Given the description of an element on the screen output the (x, y) to click on. 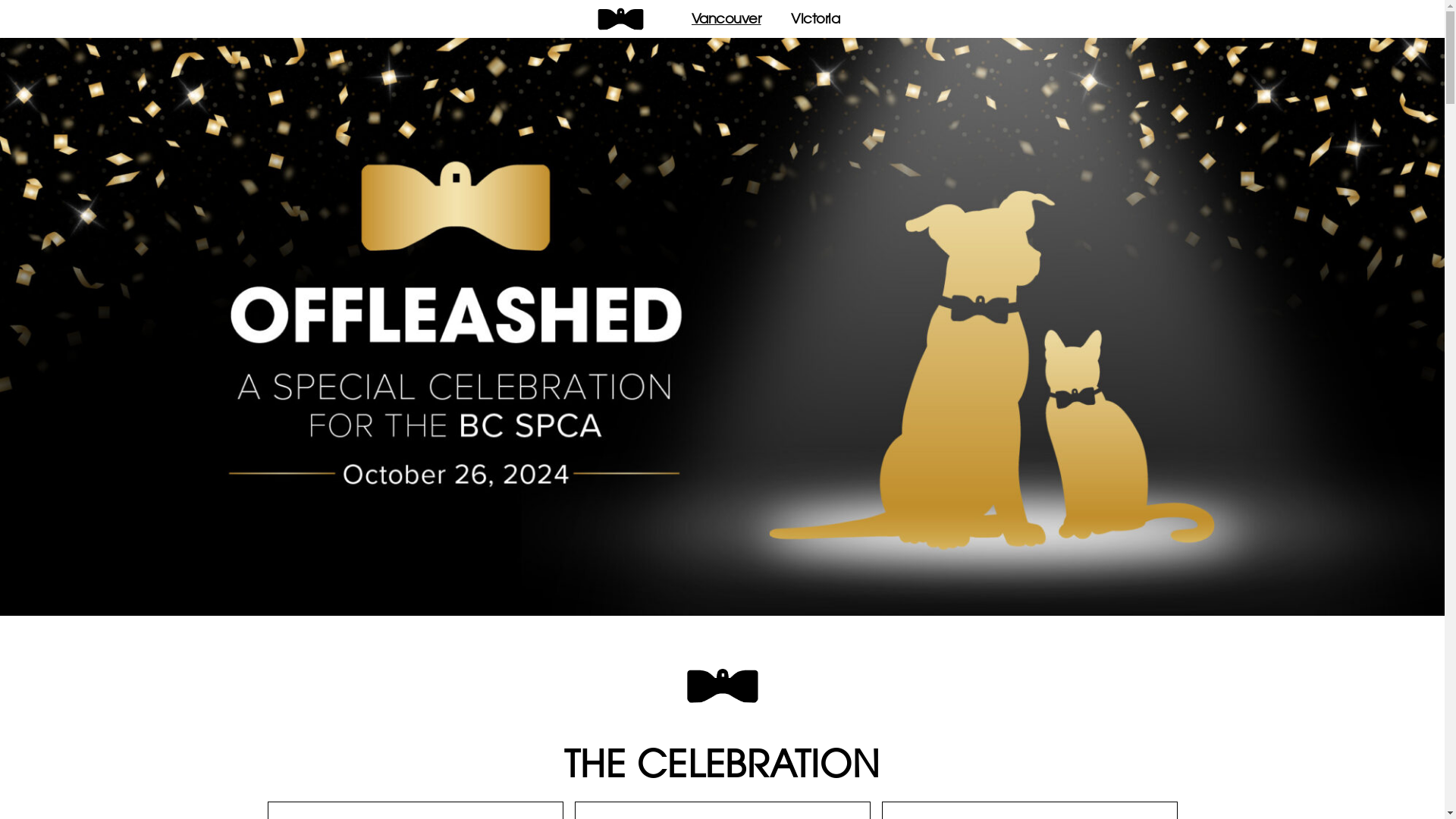
Vancouver Element type: text (726, 18)
Victoria Element type: text (814, 18)
